Given the description of an element on the screen output the (x, y) to click on. 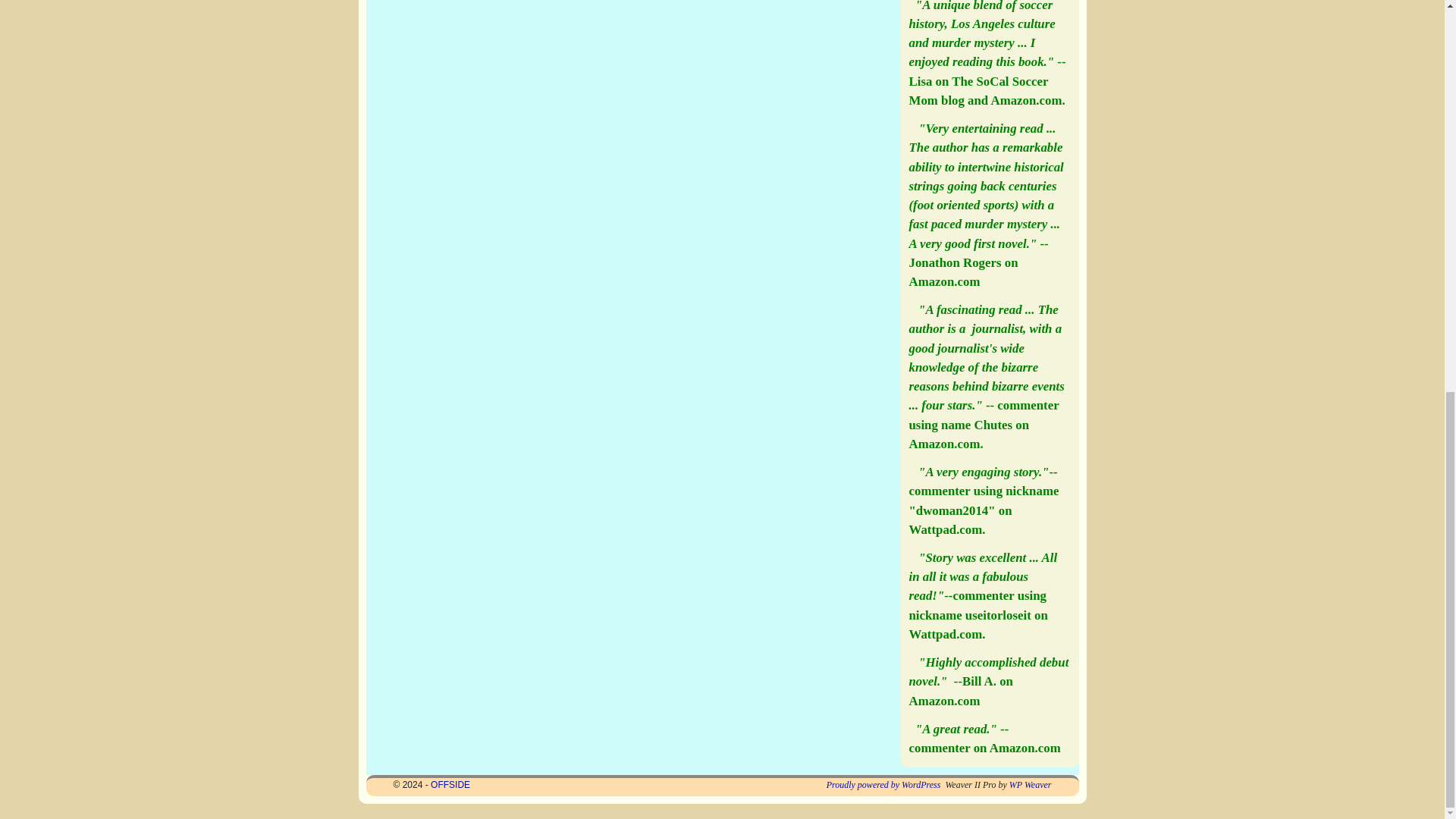
OFFSIDE (450, 784)
wordpress.org (883, 784)
OFFSIDE (450, 784)
Proudly powered by WordPress (883, 784)
WP Weaver (1030, 784)
